Given the description of an element on the screen output the (x, y) to click on. 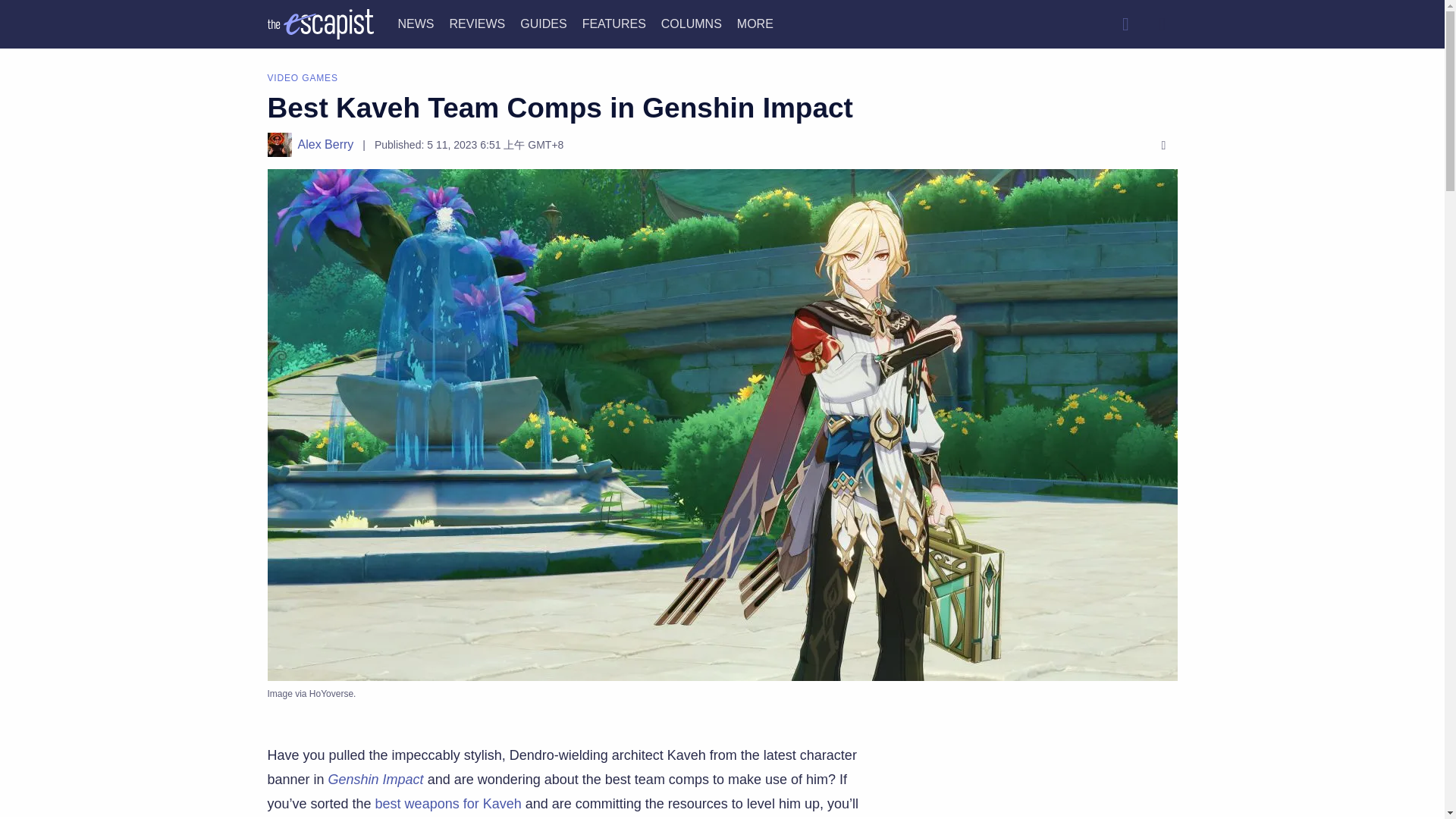
GUIDES (542, 23)
NEWS (415, 23)
Search (1124, 24)
REVIEWS (476, 23)
Dark Mode (1161, 24)
COLUMNS (691, 23)
FEATURES (614, 23)
